Given the description of an element on the screen output the (x, y) to click on. 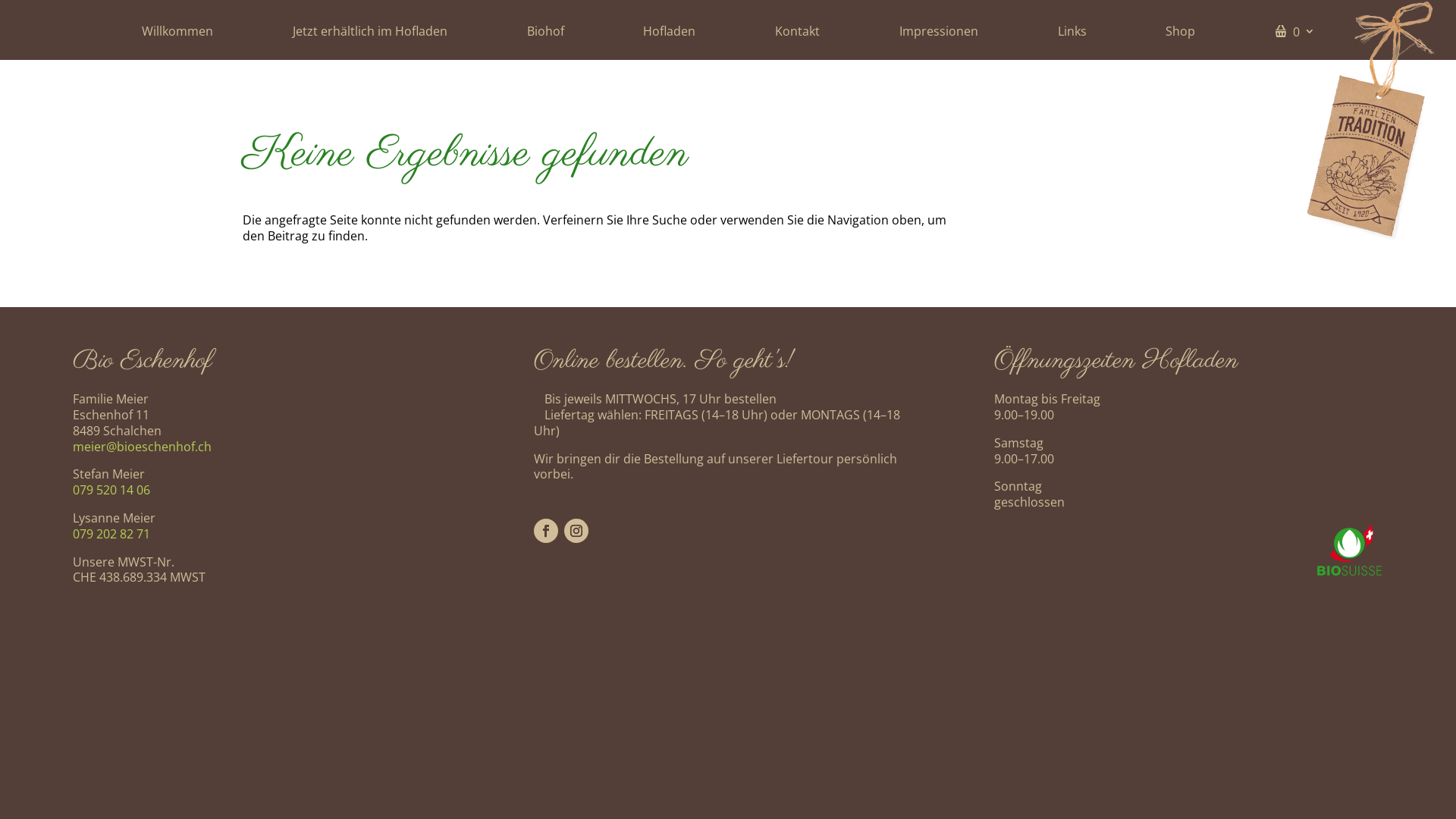
label Element type: hover (1370, 122)
CHE 438.689.334 MWST Element type: text (138, 576)
Shop Element type: text (1180, 34)
Biohof Element type: text (544, 34)
Folge auf Instagram Element type: hover (576, 530)
Links Element type: text (1071, 34)
079 520 14 06 Element type: text (111, 489)
Folge auf Facebook Element type: hover (545, 530)
Willkommen Element type: text (177, 34)
meier@bioeschenhof.ch Element type: text (141, 446)
Impressionen Element type: text (938, 34)
Hofladen Element type: text (669, 34)
079 202 82 71 Element type: text (111, 533)
Kontakt Element type: text (797, 34)
0 Element type: text (1294, 34)
